Given the description of an element on the screen output the (x, y) to click on. 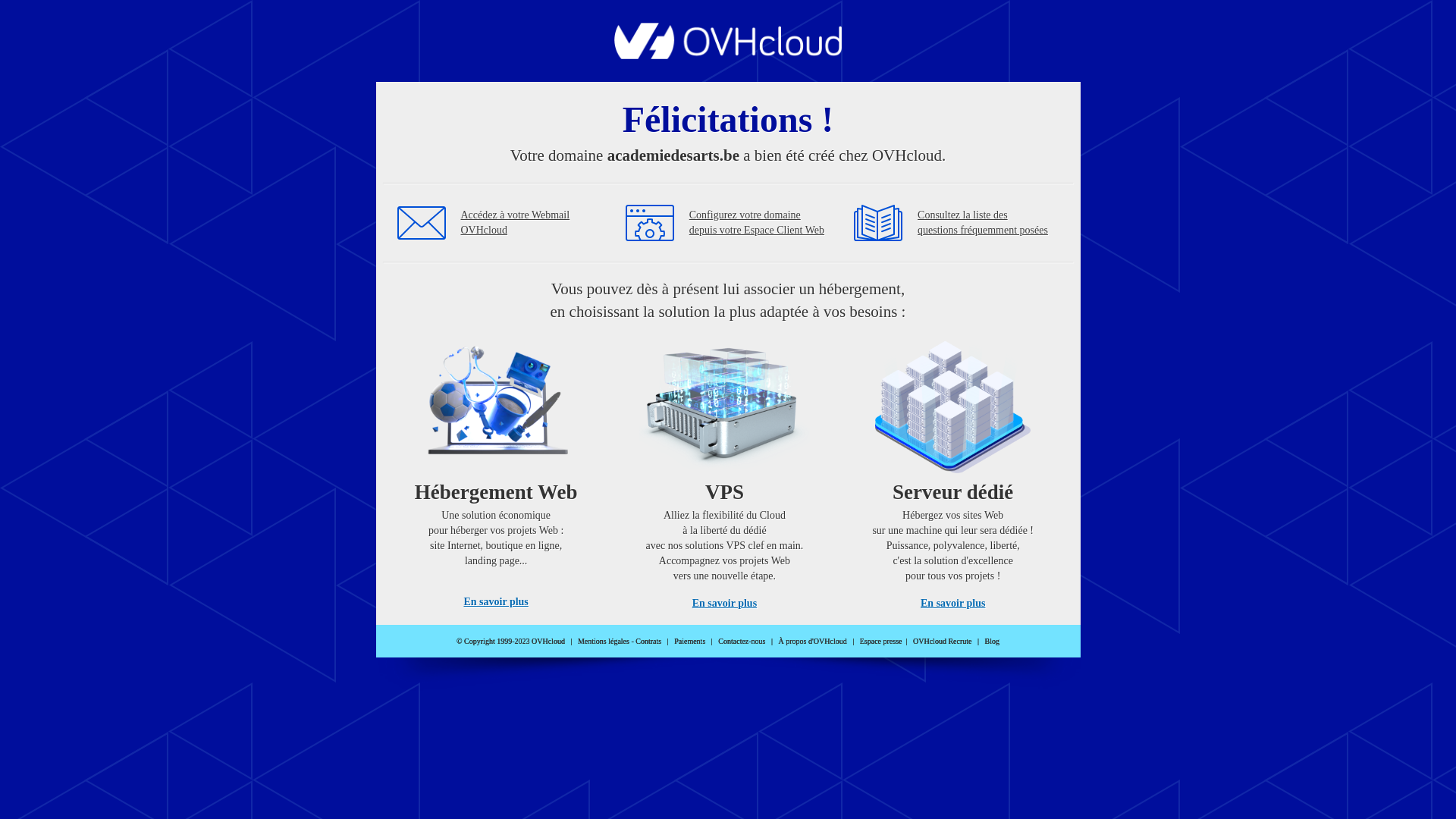
Espace presse Element type: text (880, 641)
En savoir plus Element type: text (724, 602)
En savoir plus Element type: text (952, 602)
En savoir plus Element type: text (495, 601)
Blog Element type: text (992, 641)
Contactez-nous Element type: text (741, 641)
Configurez votre domaine
depuis votre Espace Client Web Element type: text (756, 222)
OVHcloud Element type: hover (727, 54)
OVHcloud Recrute Element type: text (942, 641)
VPS Element type: hover (724, 469)
Paiements Element type: text (689, 641)
